Given the description of an element on the screen output the (x, y) to click on. 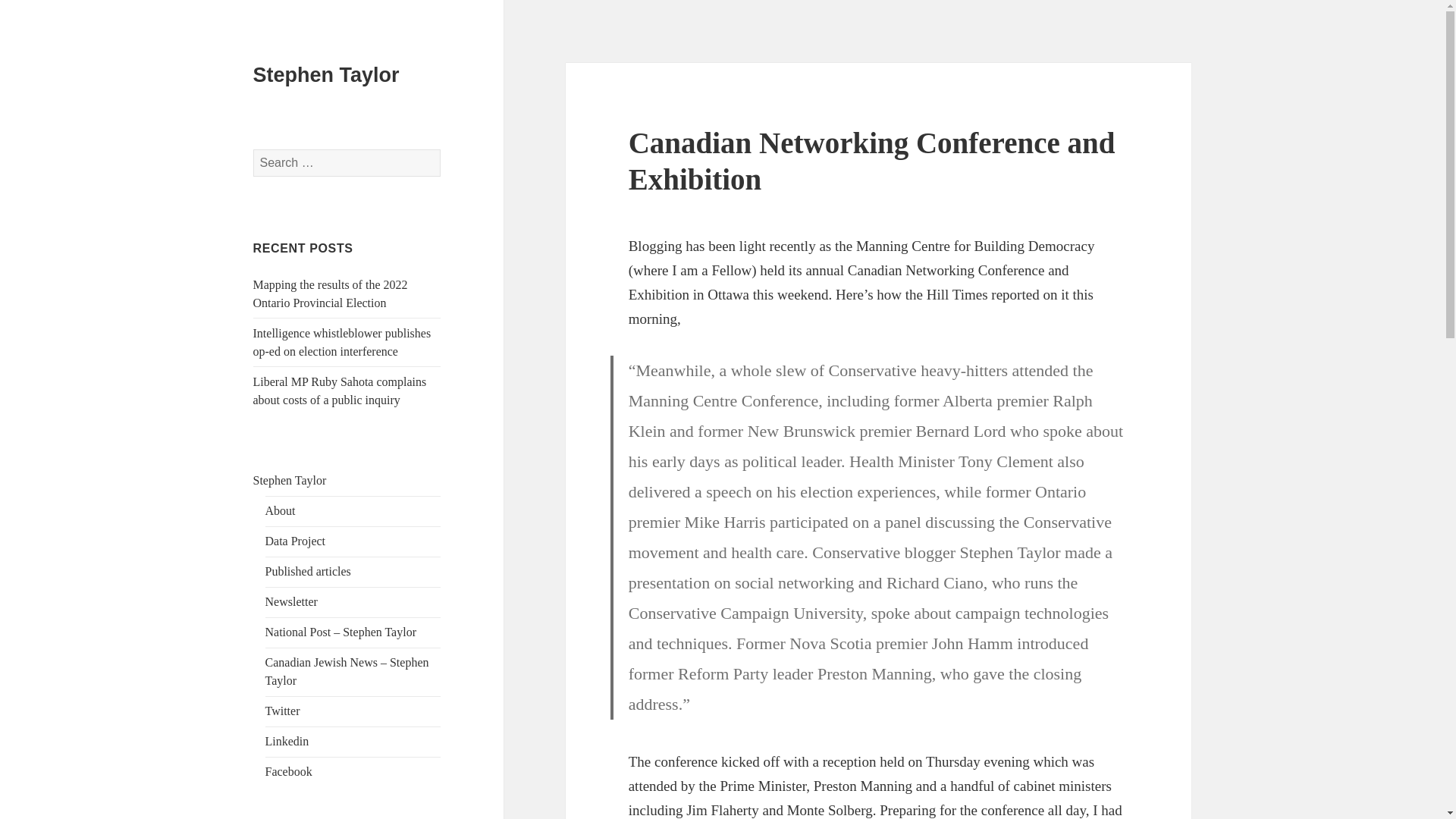
Twitter (281, 710)
Linkedin (286, 740)
About (279, 510)
Facebook (288, 771)
Stephen Taylor (325, 74)
Newsletter (290, 601)
